Given the description of an element on the screen output the (x, y) to click on. 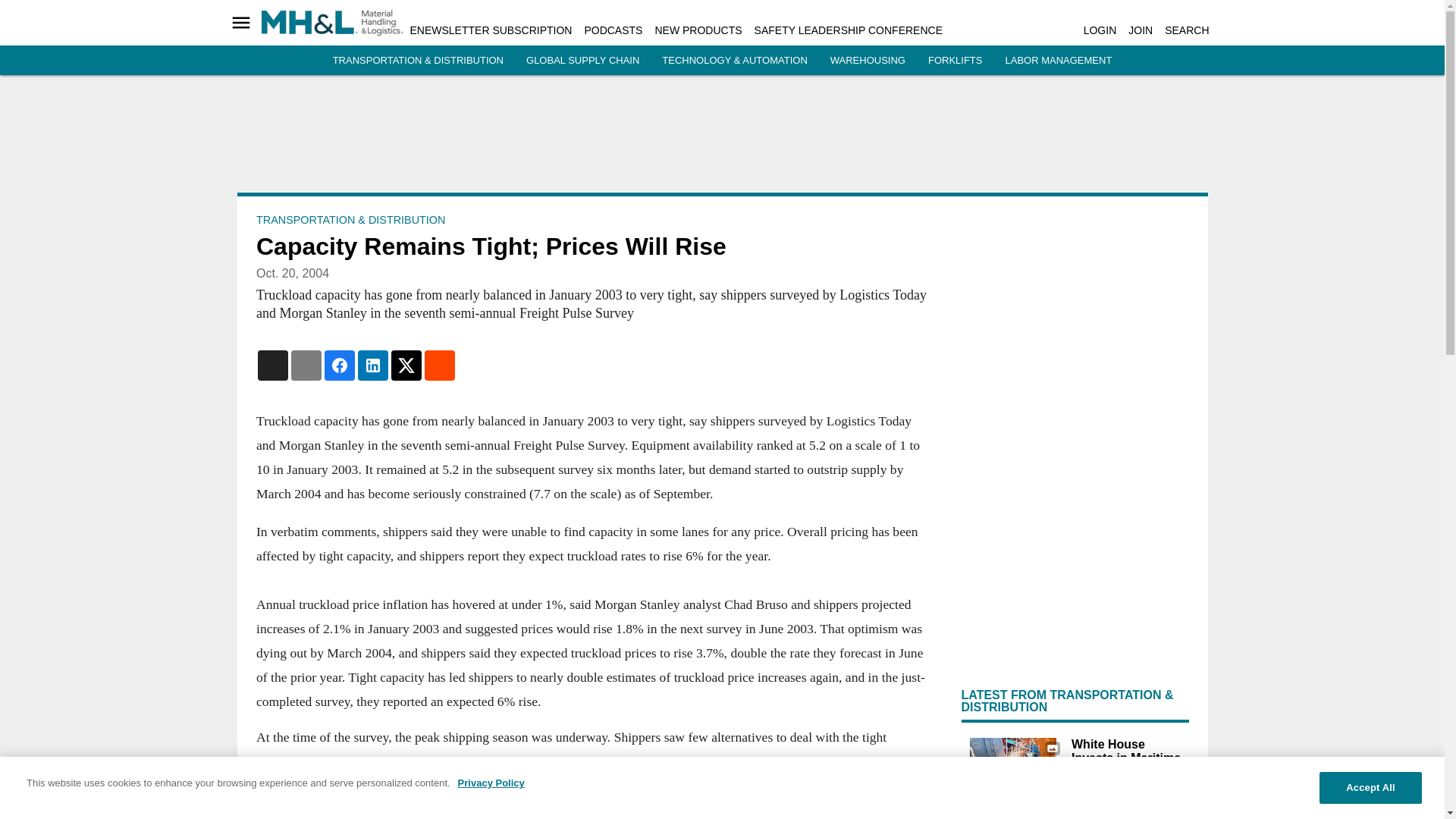
WAREHOUSING (867, 60)
3rd party ad content (722, 139)
GLOBAL SUPPLY CHAIN (582, 60)
PODCASTS (612, 30)
White House Invests in  Maritime Industries (1012, 765)
FORKLIFTS (955, 60)
LABOR MANAGEMENT (1058, 60)
SEARCH (1186, 30)
ENEWSLETTER SUBSCRIPTION (490, 30)
